Given the description of an element on the screen output the (x, y) to click on. 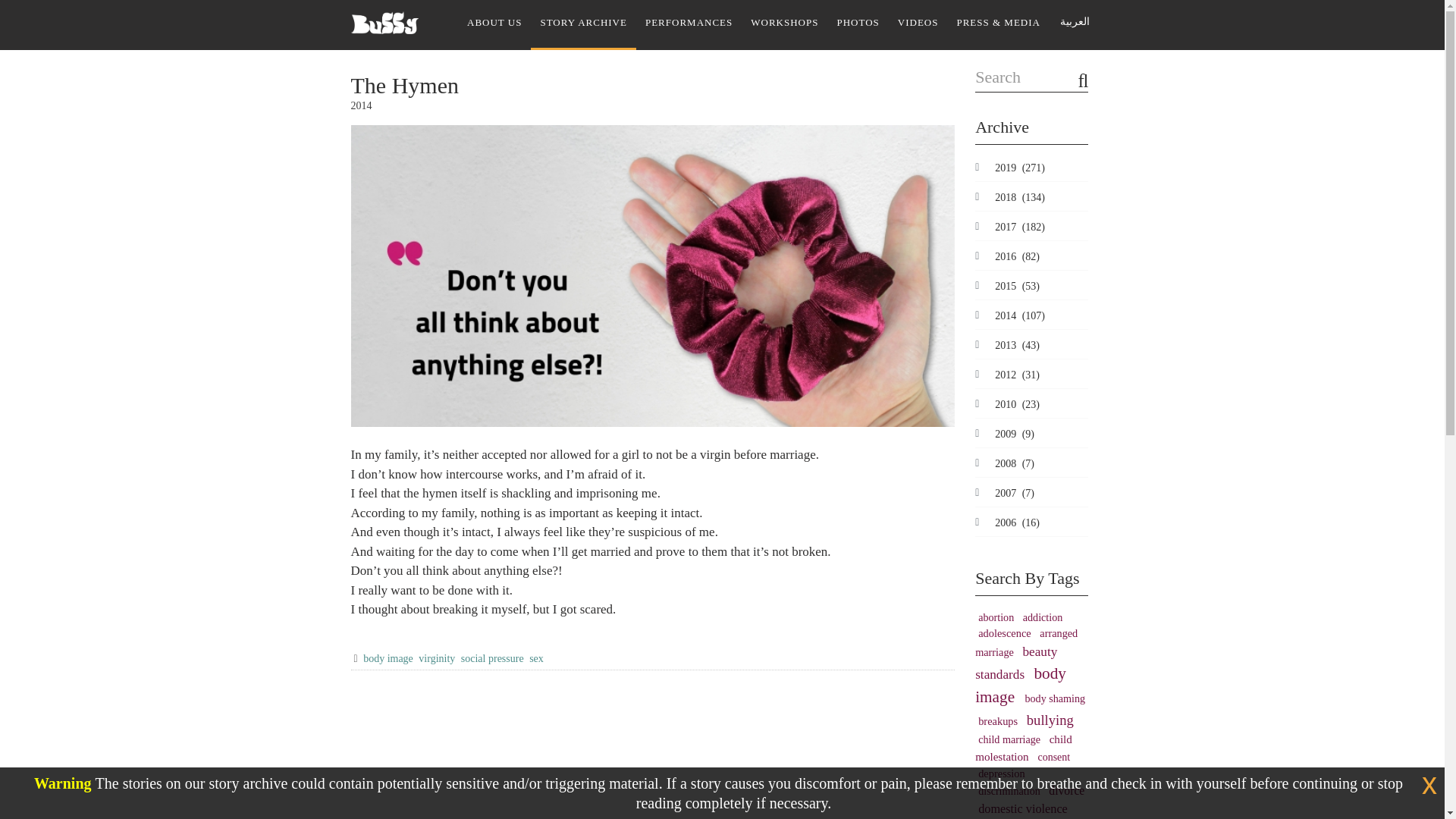
78 items tagged with domestic violence (1022, 809)
VIDEOS (917, 23)
sex (536, 658)
PERFORMANCES (688, 23)
2 items tagged with abortion (997, 617)
virginity (436, 658)
BuSSy (383, 17)
167 items tagged with bullying (1050, 720)
38 items tagged with fgm (1025, 818)
9 items tagged with arranged marriage (1026, 642)
